Given the description of an element on the screen output the (x, y) to click on. 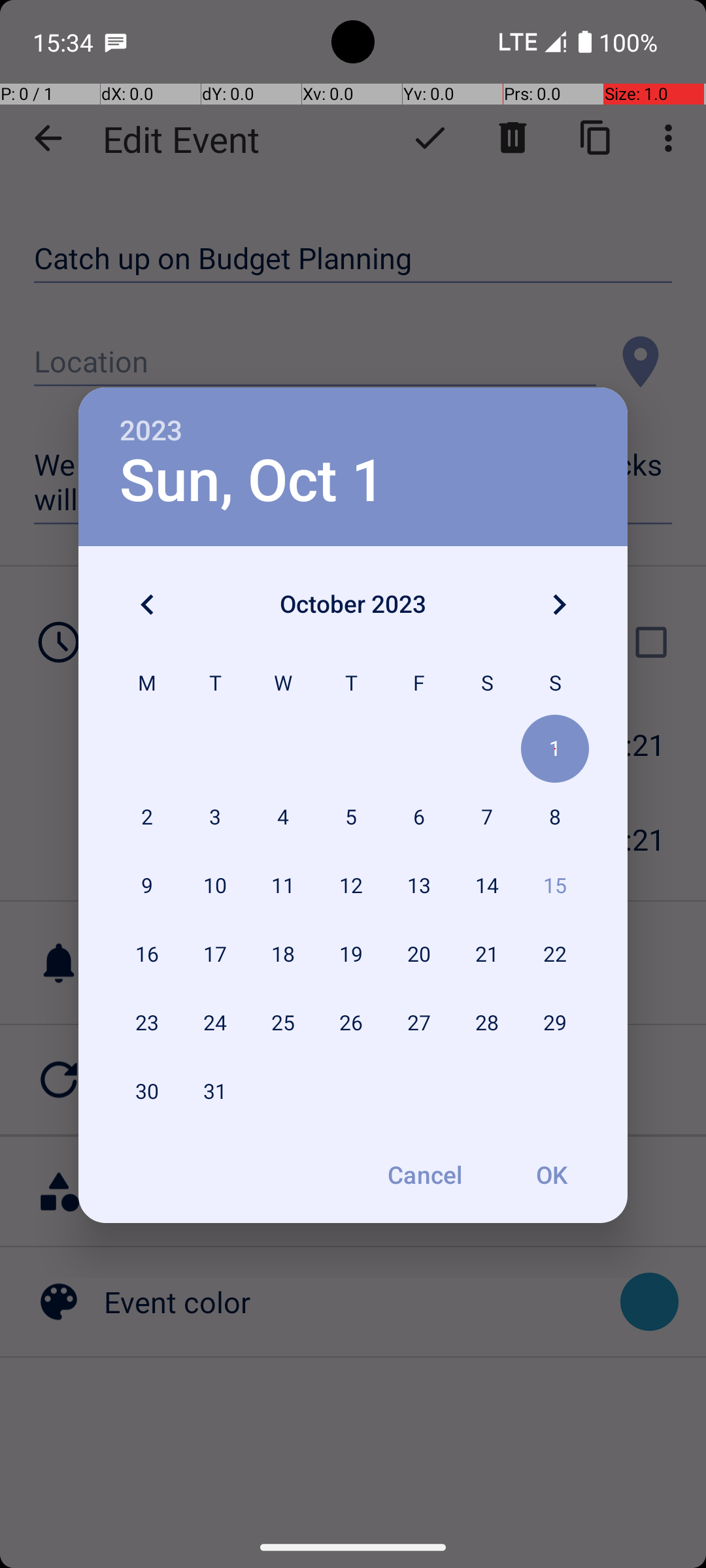
Sun, Oct 1 Element type: android.widget.TextView (252, 480)
